Given the description of an element on the screen output the (x, y) to click on. 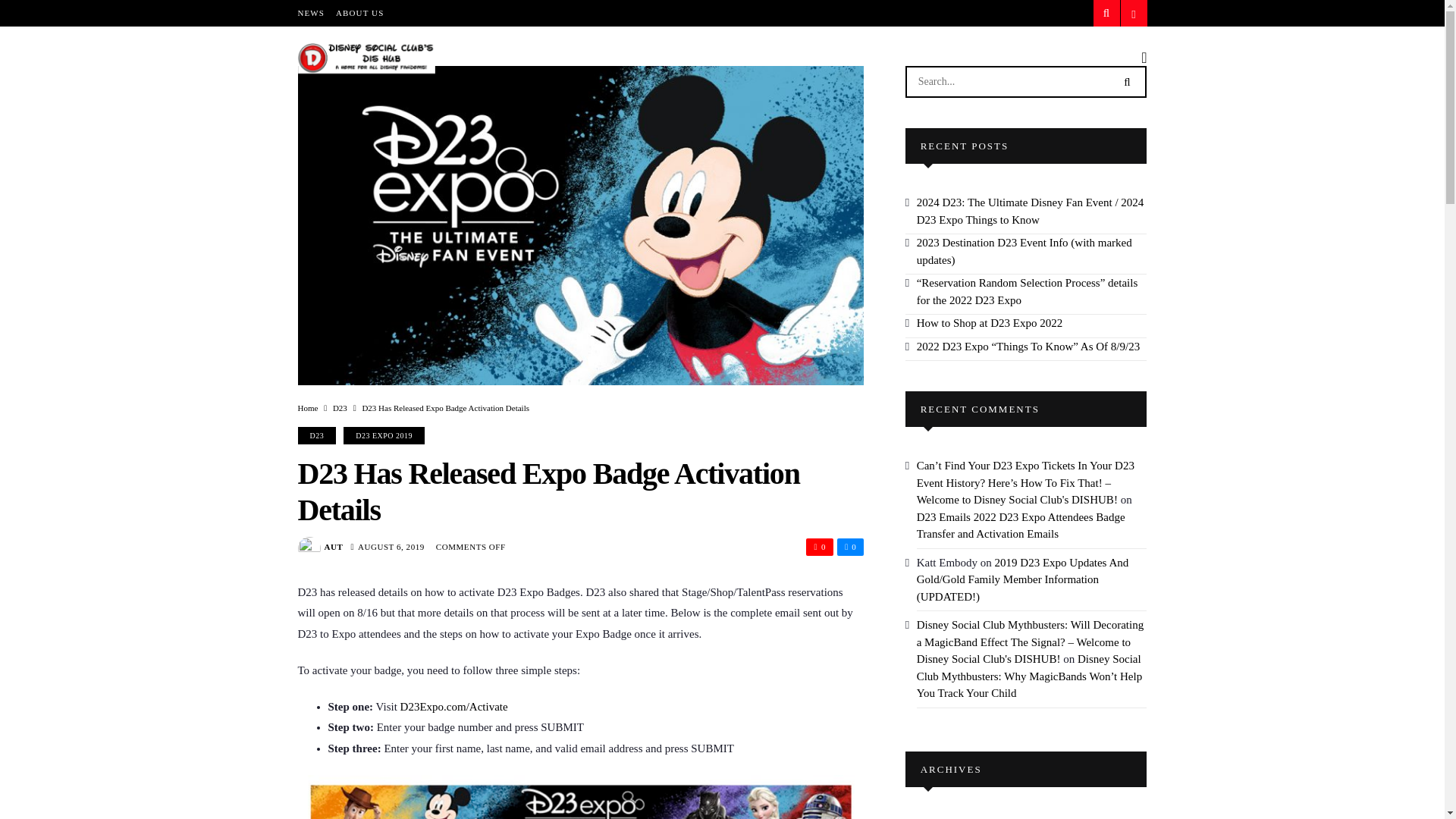
ABOUT US (360, 13)
D23 EXPO 2019 (384, 435)
NEWS (310, 13)
Like (850, 547)
Home (307, 407)
D23 (316, 435)
0 (850, 547)
Posts by Aut (333, 546)
D23 (340, 407)
Search (1126, 80)
AUT (333, 546)
